Given the description of an element on the screen output the (x, y) to click on. 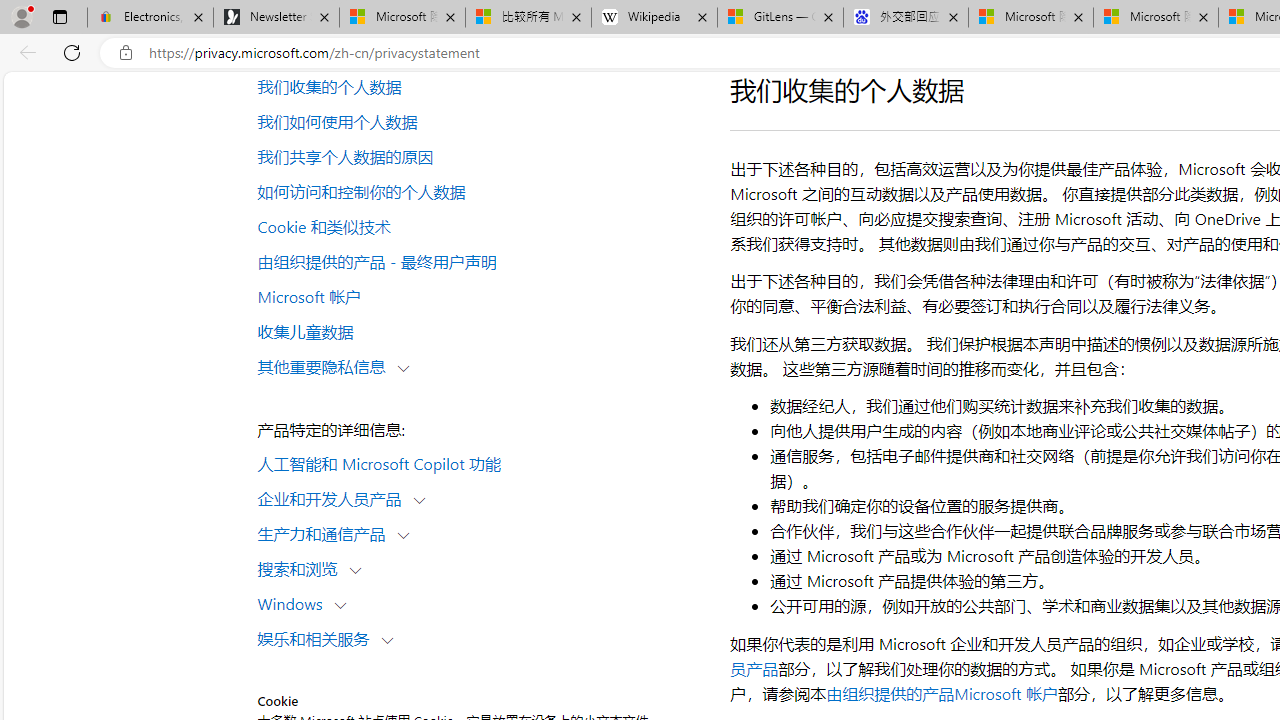
Windows (294, 602)
Newsletter Sign Up (276, 17)
Wikipedia (653, 17)
